Given the description of an element on the screen output the (x, y) to click on. 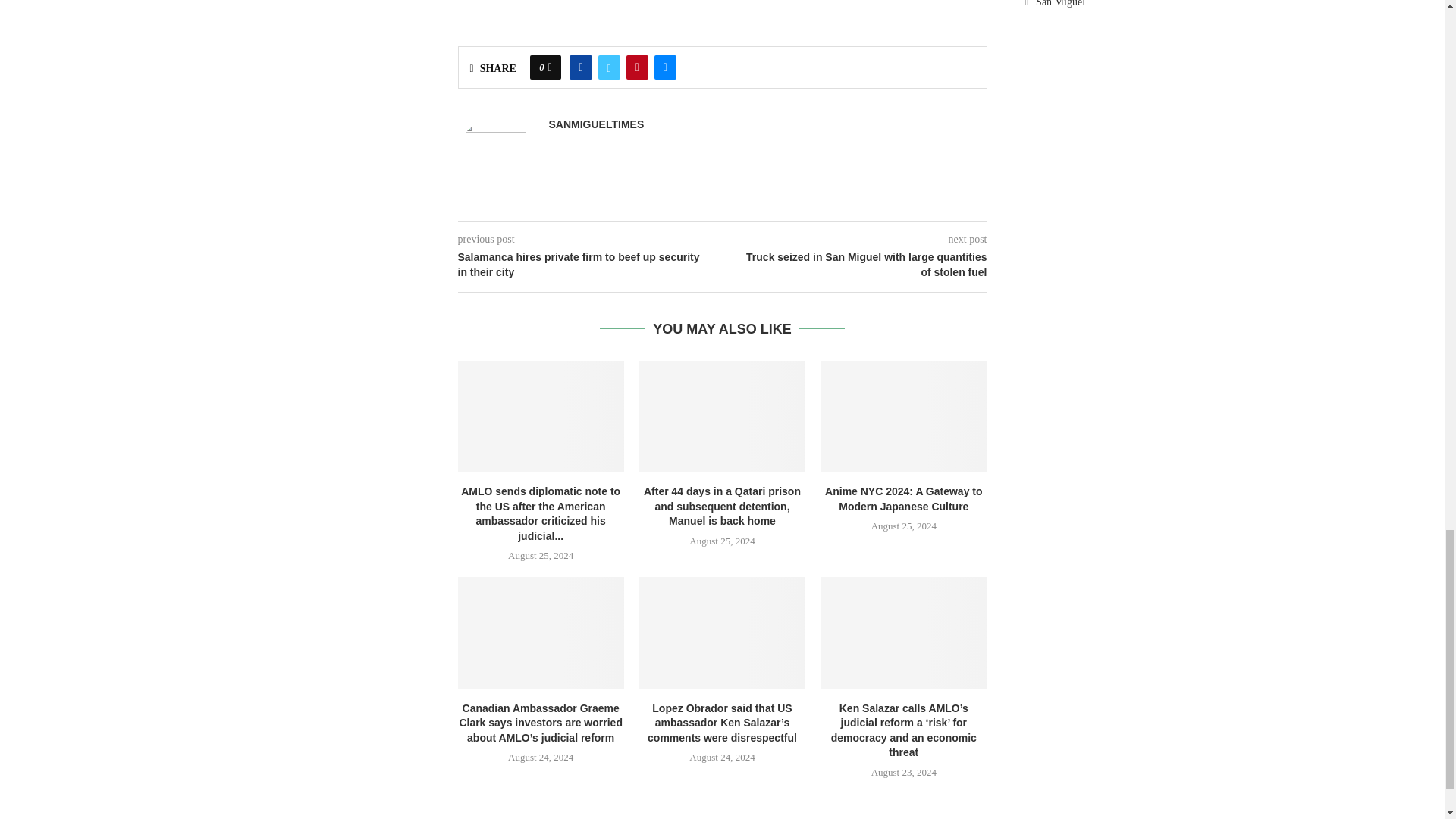
Anime NYC 2024: A Gateway to Modern Japanese Culture (904, 416)
Author sanmigueltimes (596, 124)
